Given the description of an element on the screen output the (x, y) to click on. 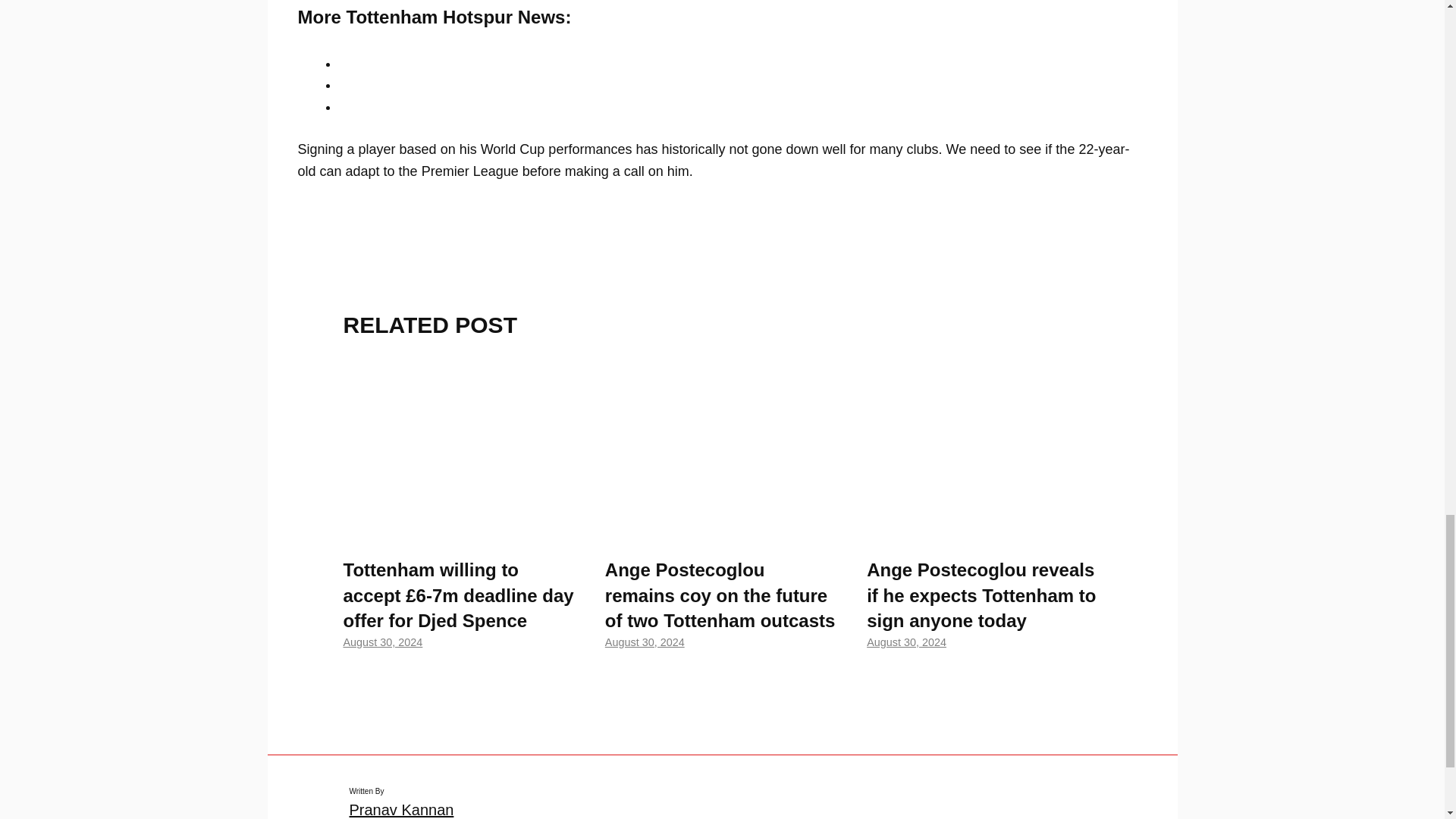
7:57 pm (644, 642)
10:42 pm (382, 642)
6:19 pm (906, 642)
